Given the description of an element on the screen output the (x, y) to click on. 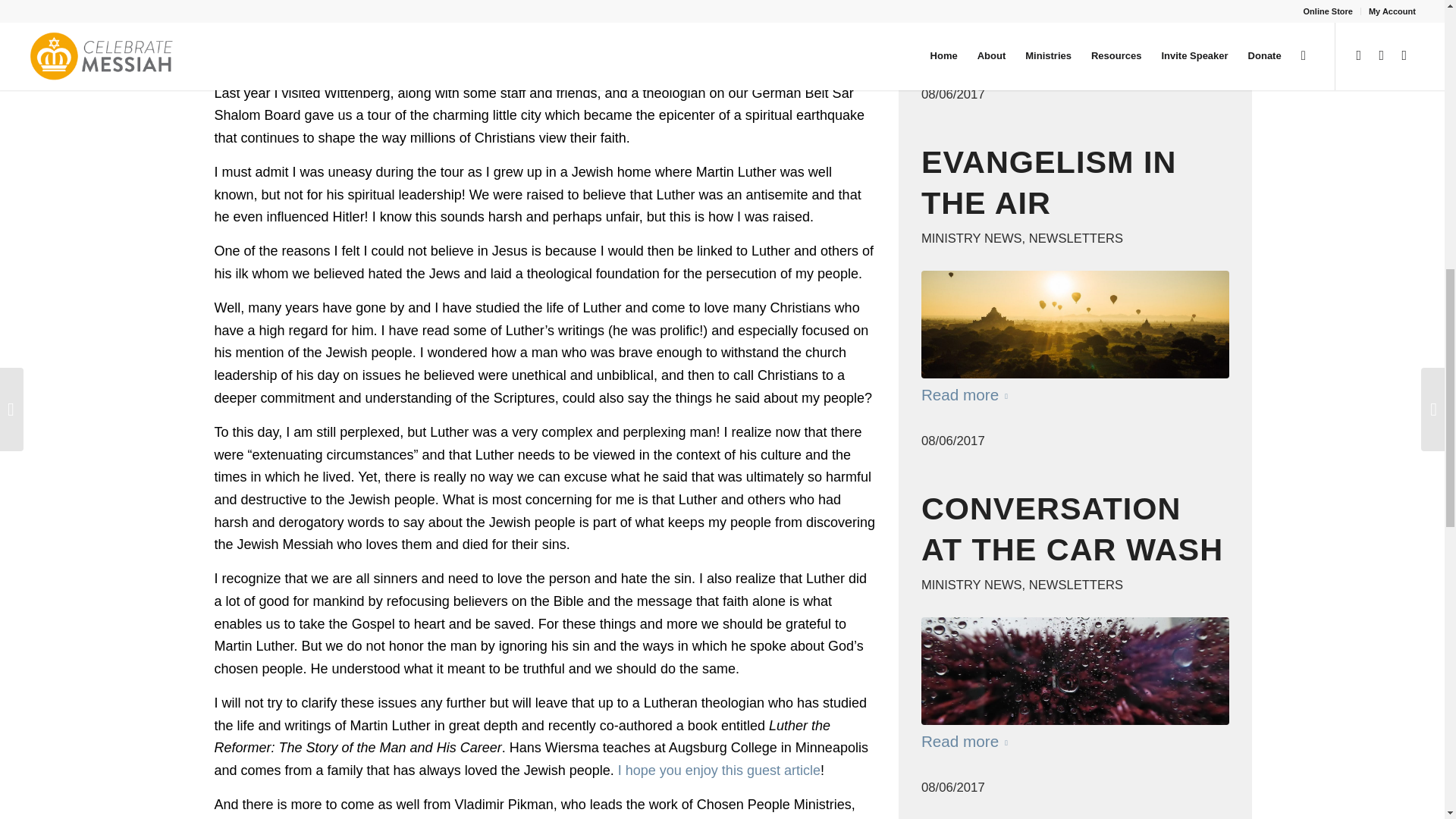
sea-city-skyline-ocean (1074, 15)
Permanent Link: Evangelism in the Air (1048, 182)
Permanent Link: Conversation at the Car Wash (1072, 529)
